Given the description of an element on the screen output the (x, y) to click on. 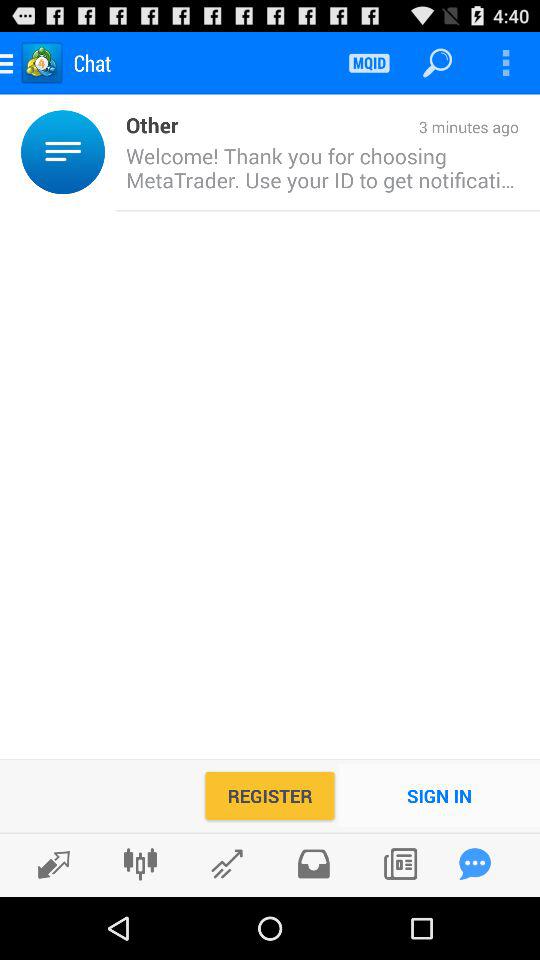
check inbox (313, 863)
